Given the description of an element on the screen output the (x, y) to click on. 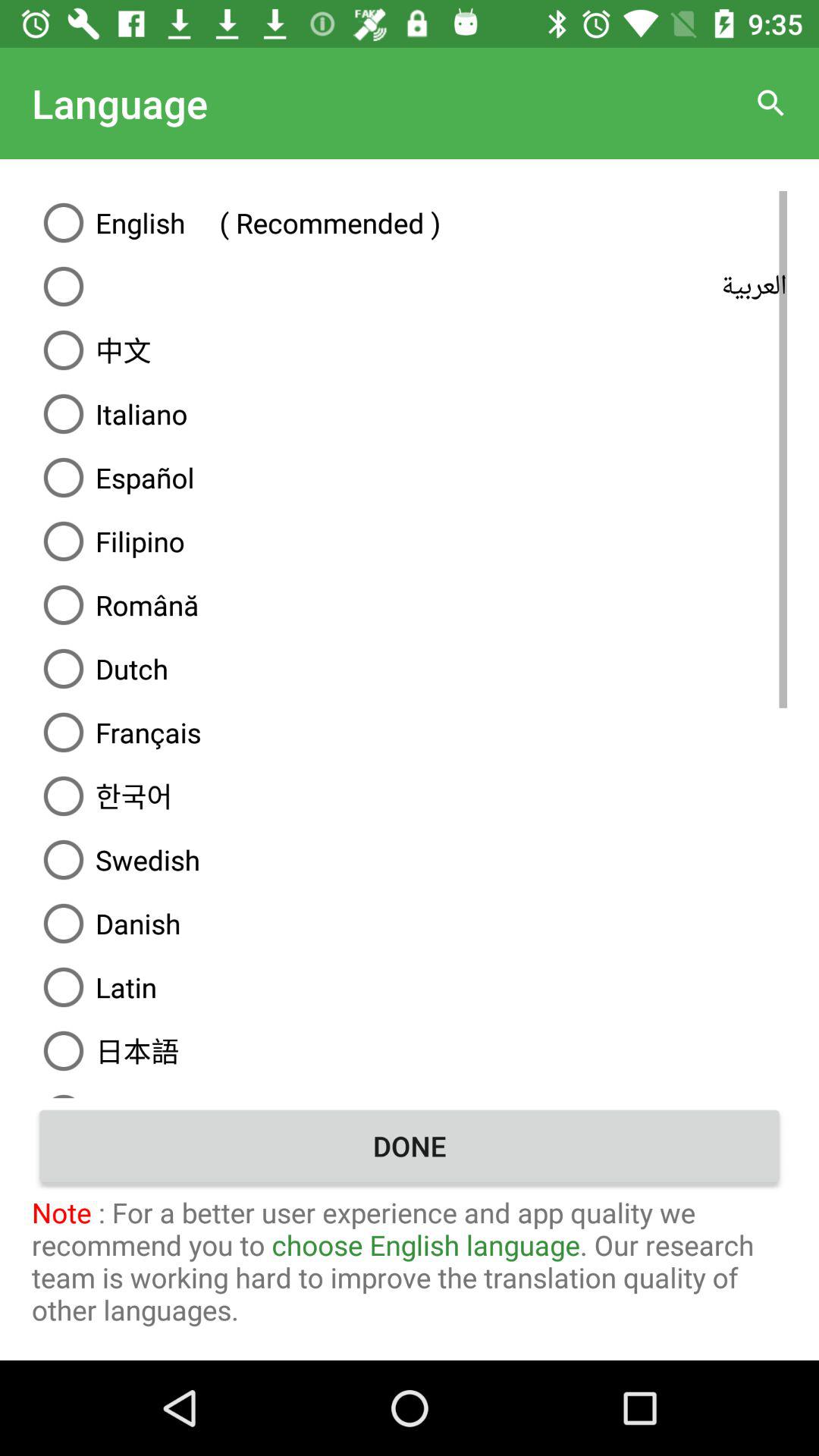
press item above the italiano icon (409, 350)
